Given the description of an element on the screen output the (x, y) to click on. 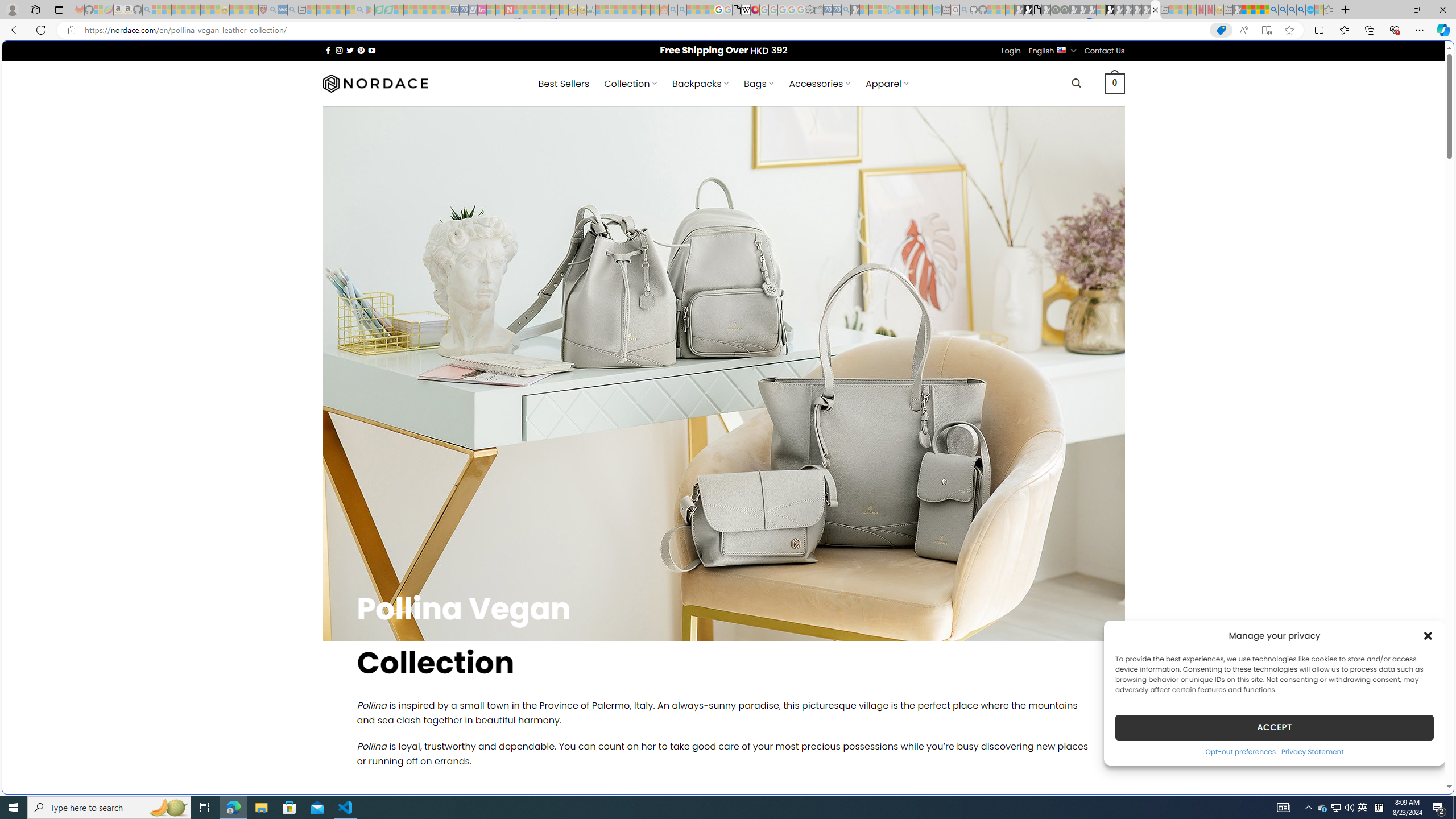
Bluey: Let's Play! - Apps on Google Play - Sleeping (369, 9)
MSN (1118, 536)
Pets - MSN - Sleeping (340, 9)
Kinda Frugal - MSN - Sleeping (636, 9)
2009 Bing officially replaced Live Search on June 3 - Search (1283, 9)
